Given the description of an element on the screen output the (x, y) to click on. 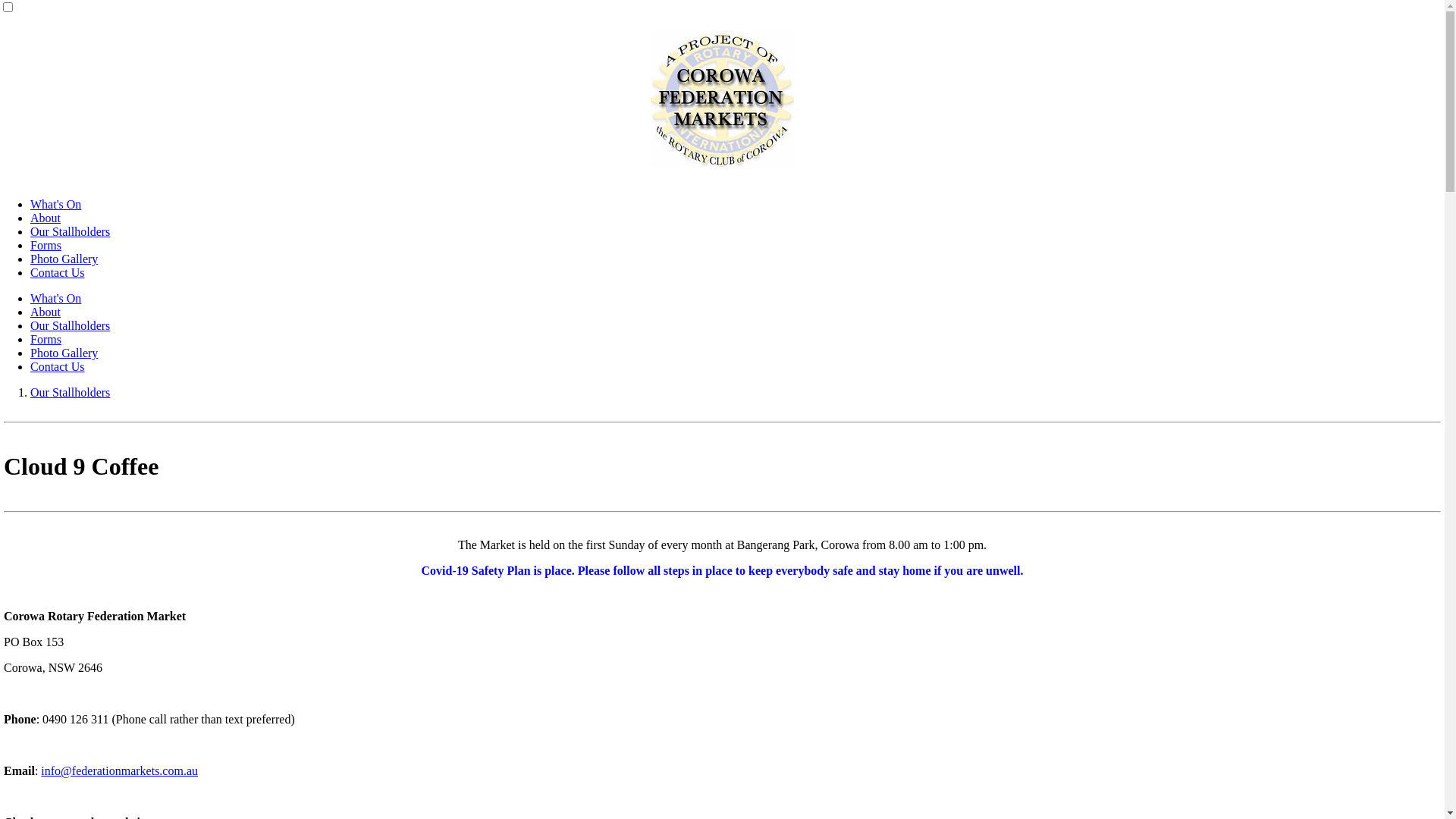
Contact Us Element type: text (57, 366)
Our Stallholders Element type: text (69, 391)
Our Stallholders Element type: text (69, 231)
Forms Element type: text (45, 244)
What's On Element type: text (55, 203)
About Element type: text (45, 311)
info@federationmarkets.com.au Element type: text (118, 770)
What's On Element type: text (55, 297)
Photo Gallery Element type: text (63, 258)
Contact Us Element type: text (57, 272)
Our Stallholders Element type: text (69, 325)
Forms Element type: text (45, 338)
About Element type: text (45, 217)
Photo Gallery Element type: text (63, 352)
